Given the description of an element on the screen output the (x, y) to click on. 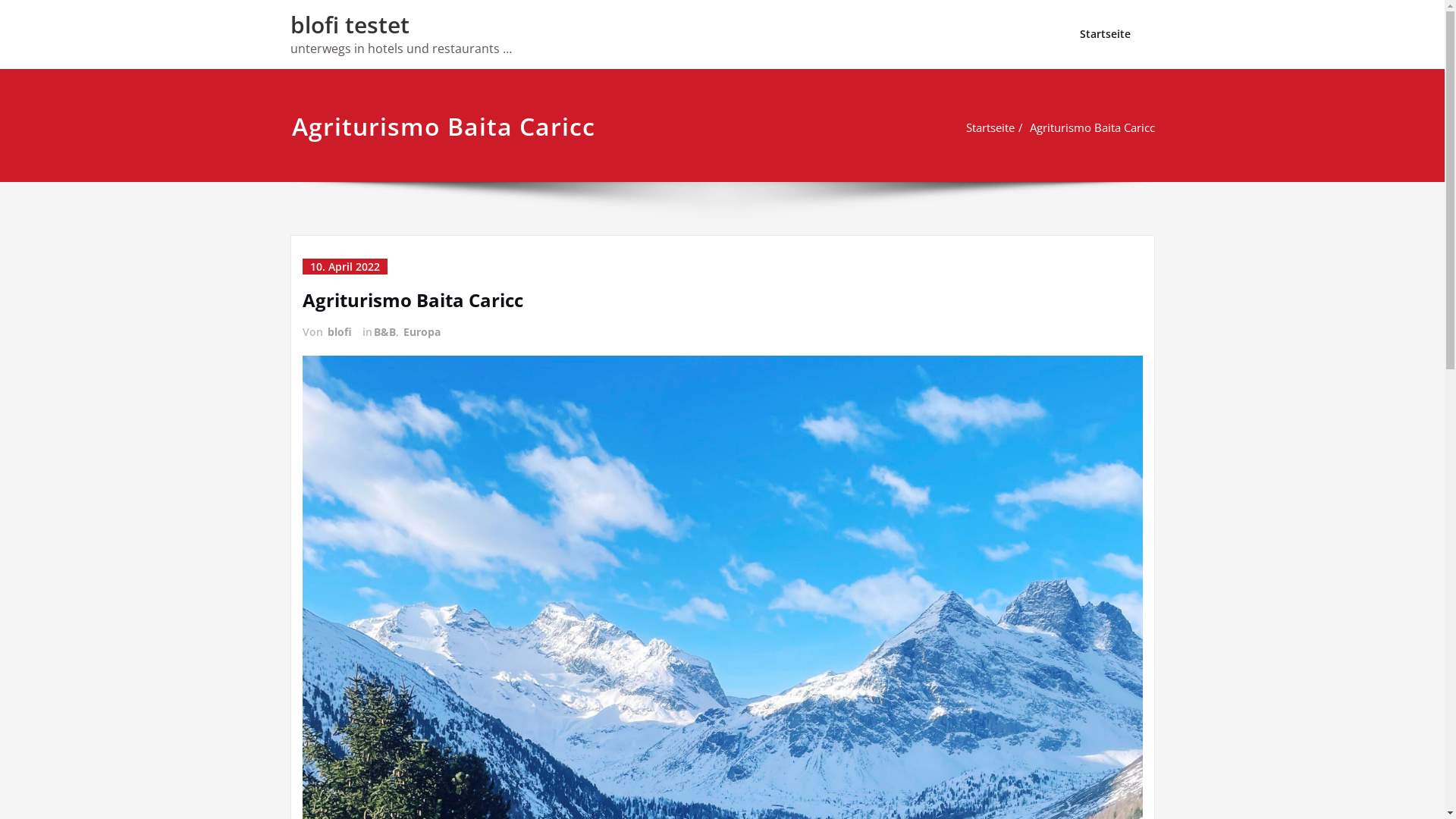
blofi Element type: text (338, 331)
Startseite Element type: text (990, 126)
Europa Element type: text (420, 331)
blofi testet Element type: text (348, 24)
Agriturismo Baita Caricc Element type: text (1091, 126)
10. April 2022 Element type: text (343, 266)
B&B Element type: text (383, 331)
Skip to content Element type: text (0, 0)
Startseite Element type: text (1104, 34)
